Given the description of an element on the screen output the (x, y) to click on. 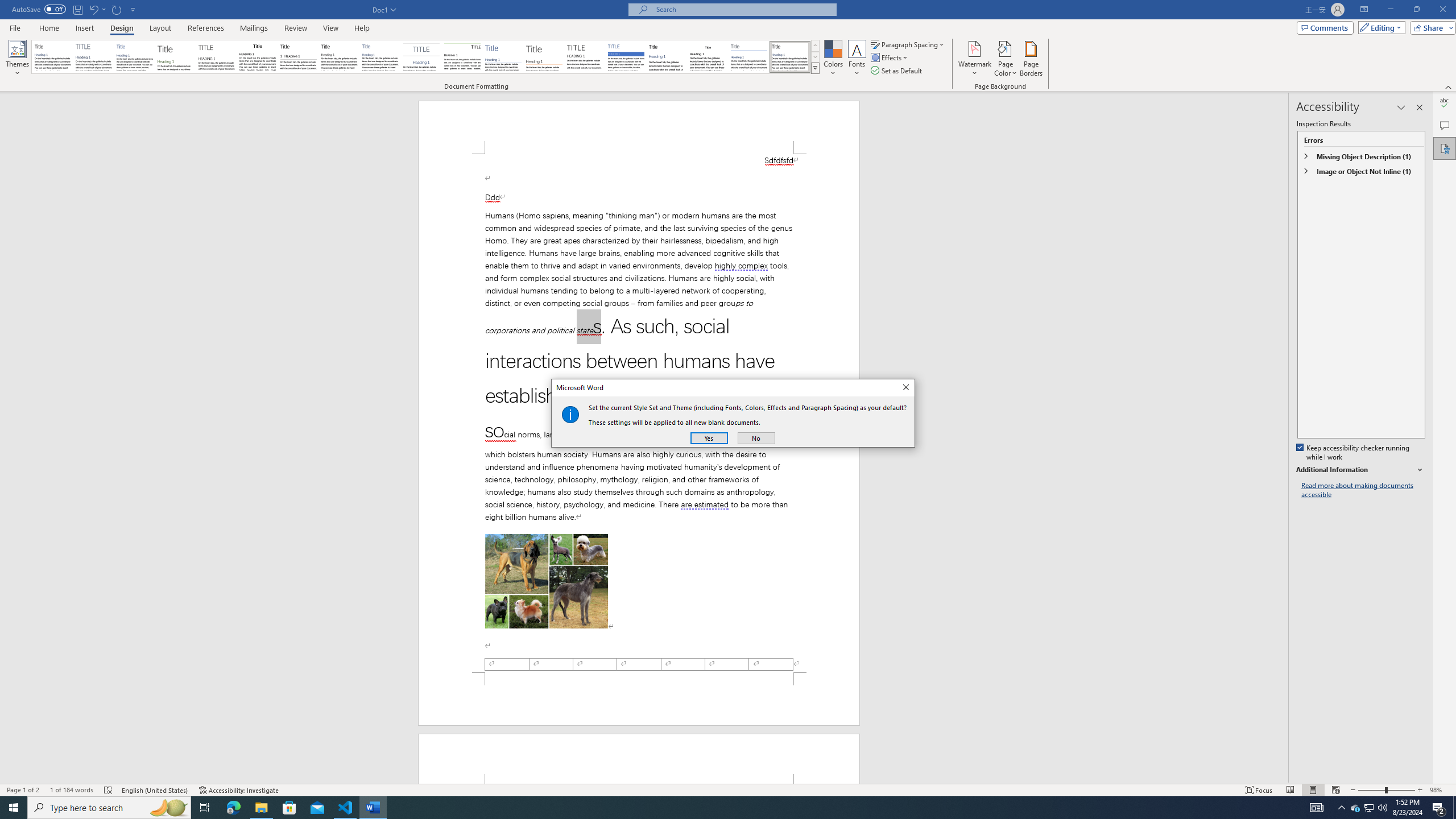
Page Borders... (1031, 58)
Black & White (Word 2013) (338, 56)
Basic (Stylish) (175, 56)
Watermark (974, 58)
Centered (421, 56)
Yes (709, 437)
